Given the description of an element on the screen output the (x, y) to click on. 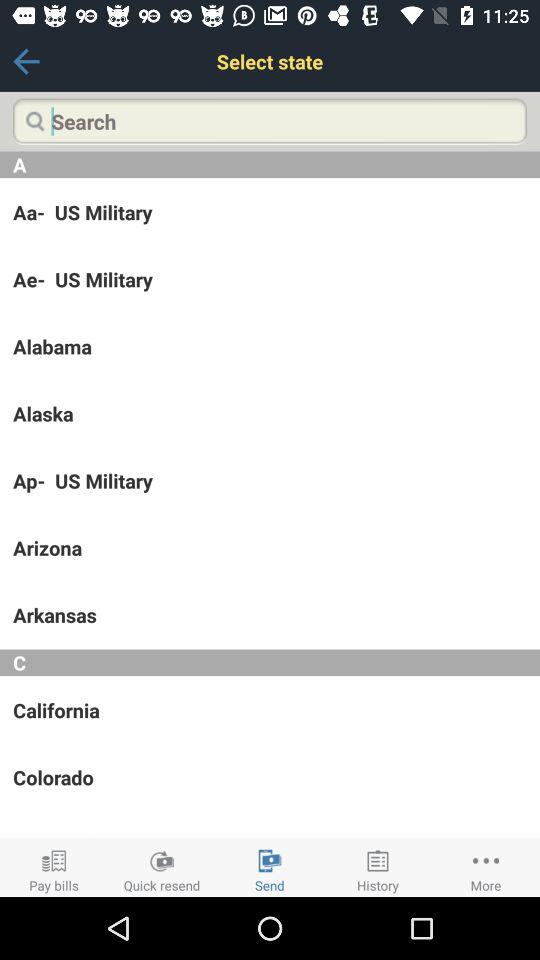
swipe to the c app (270, 662)
